Given the description of an element on the screen output the (x, y) to click on. 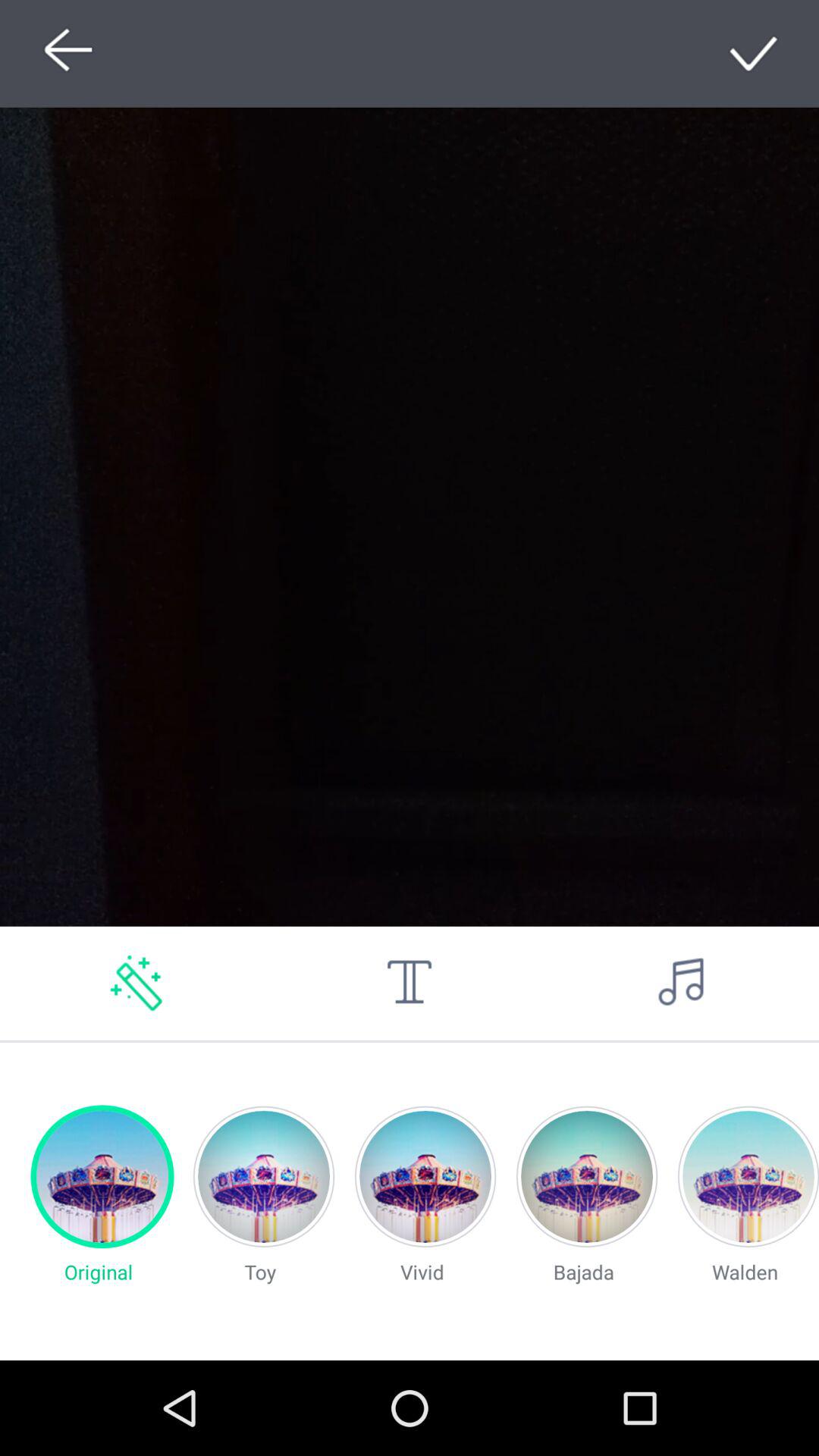
add text (409, 983)
